Given the description of an element on the screen output the (x, y) to click on. 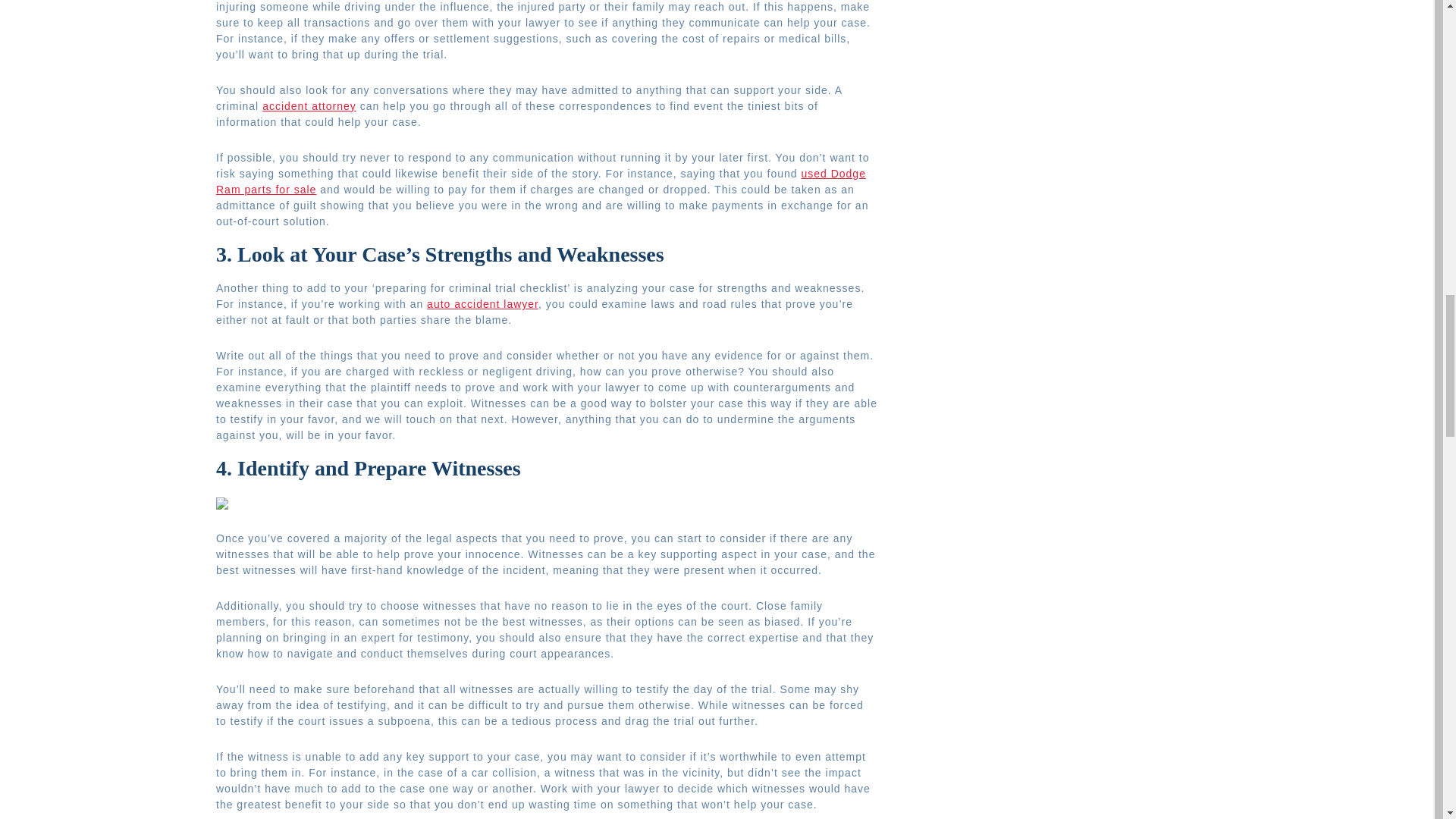
used Dodge Ram parts for sale (540, 181)
accident attorney (309, 105)
auto accident lawyer (482, 304)
